Given the description of an element on the screen output the (x, y) to click on. 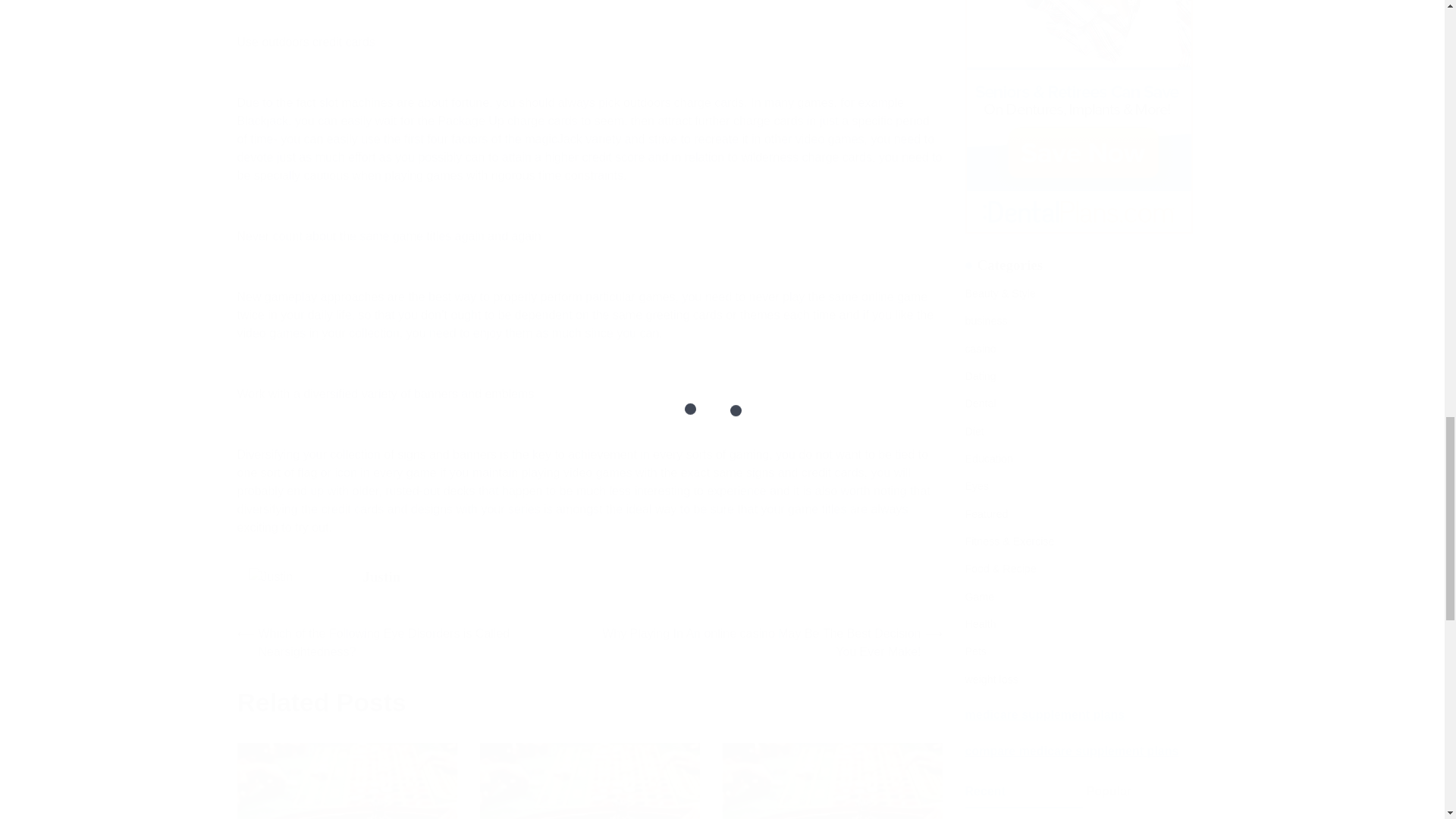
medicare supplement plans (1043, 91)
Health (979, 3)
weight loss (990, 55)
Pets (974, 28)
compare medicare supplement plans (1070, 127)
